Given the description of an element on the screen output the (x, y) to click on. 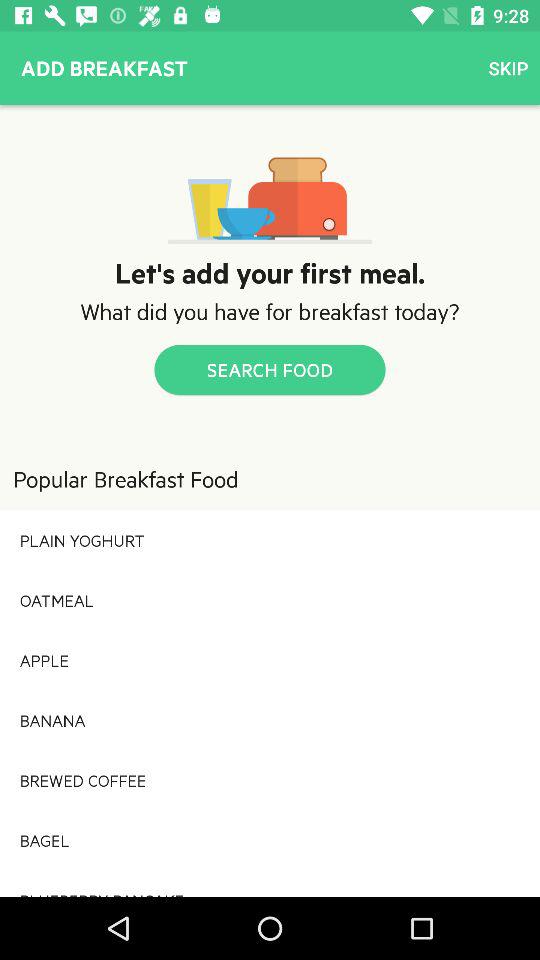
scroll to oatmeal item (270, 600)
